Given the description of an element on the screen output the (x, y) to click on. 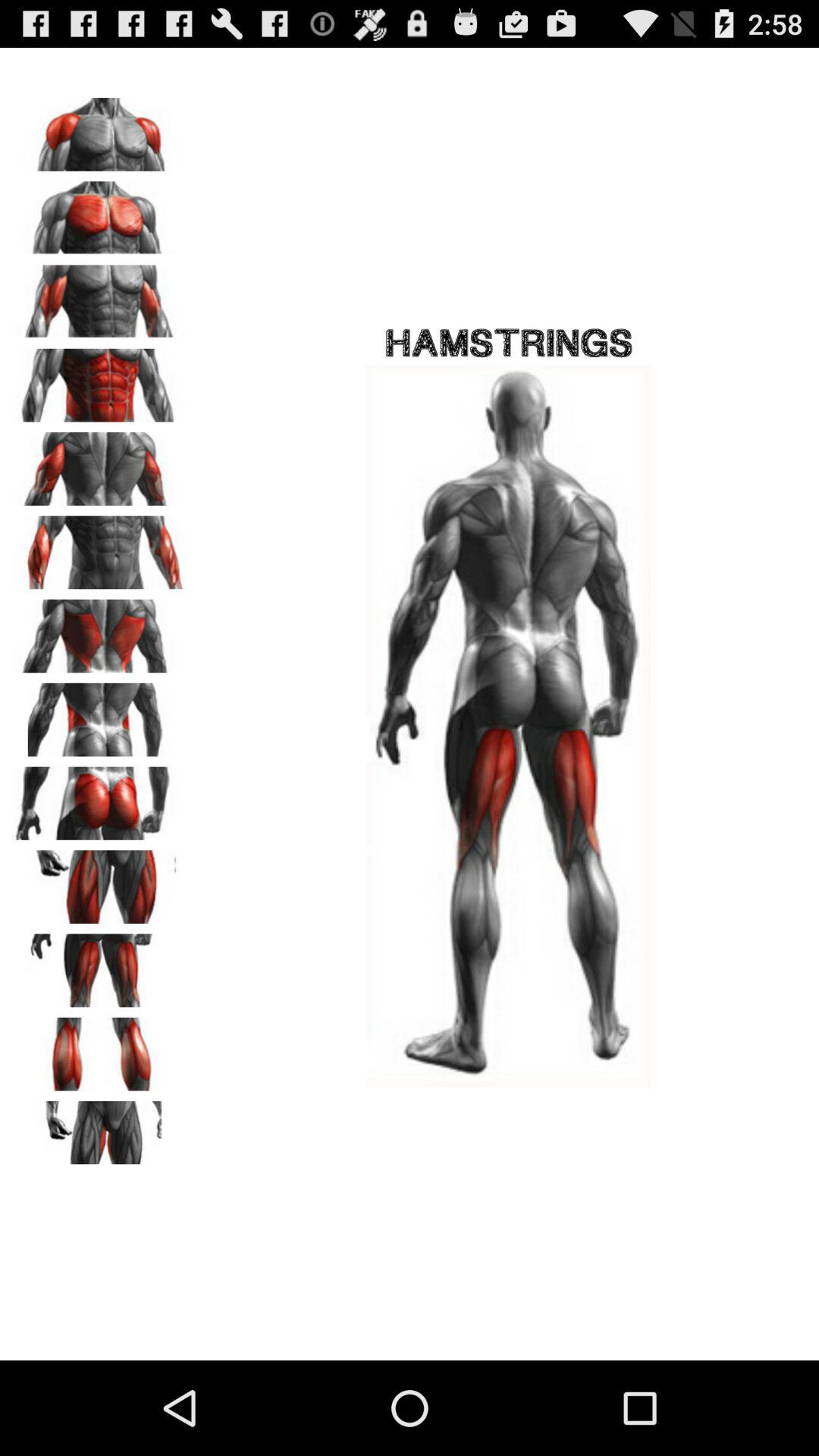
shows hamstring muscles (99, 630)
